Given the description of an element on the screen output the (x, y) to click on. 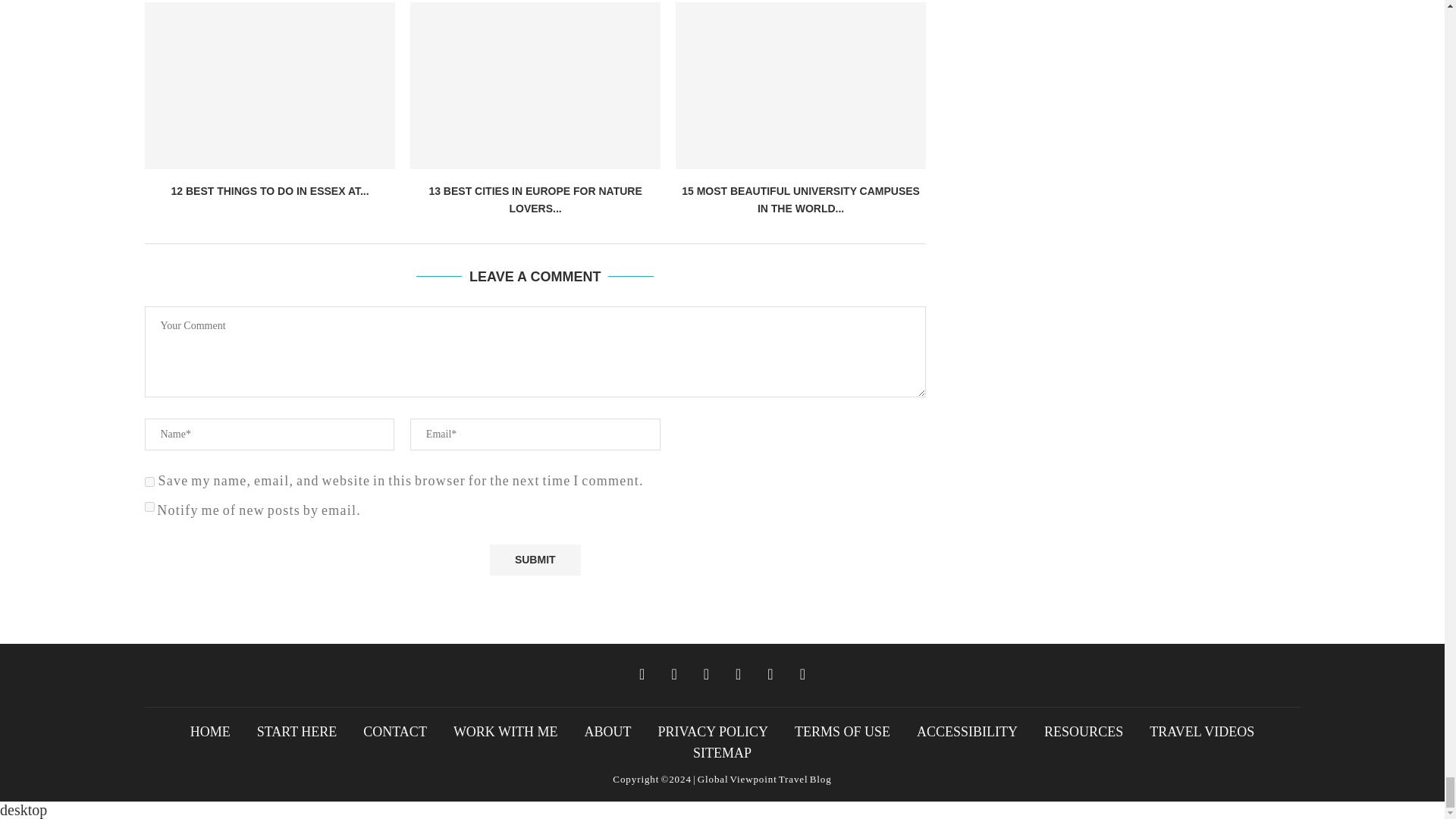
subscribe (149, 506)
Submit (534, 559)
yes (149, 481)
